Given the description of an element on the screen output the (x, y) to click on. 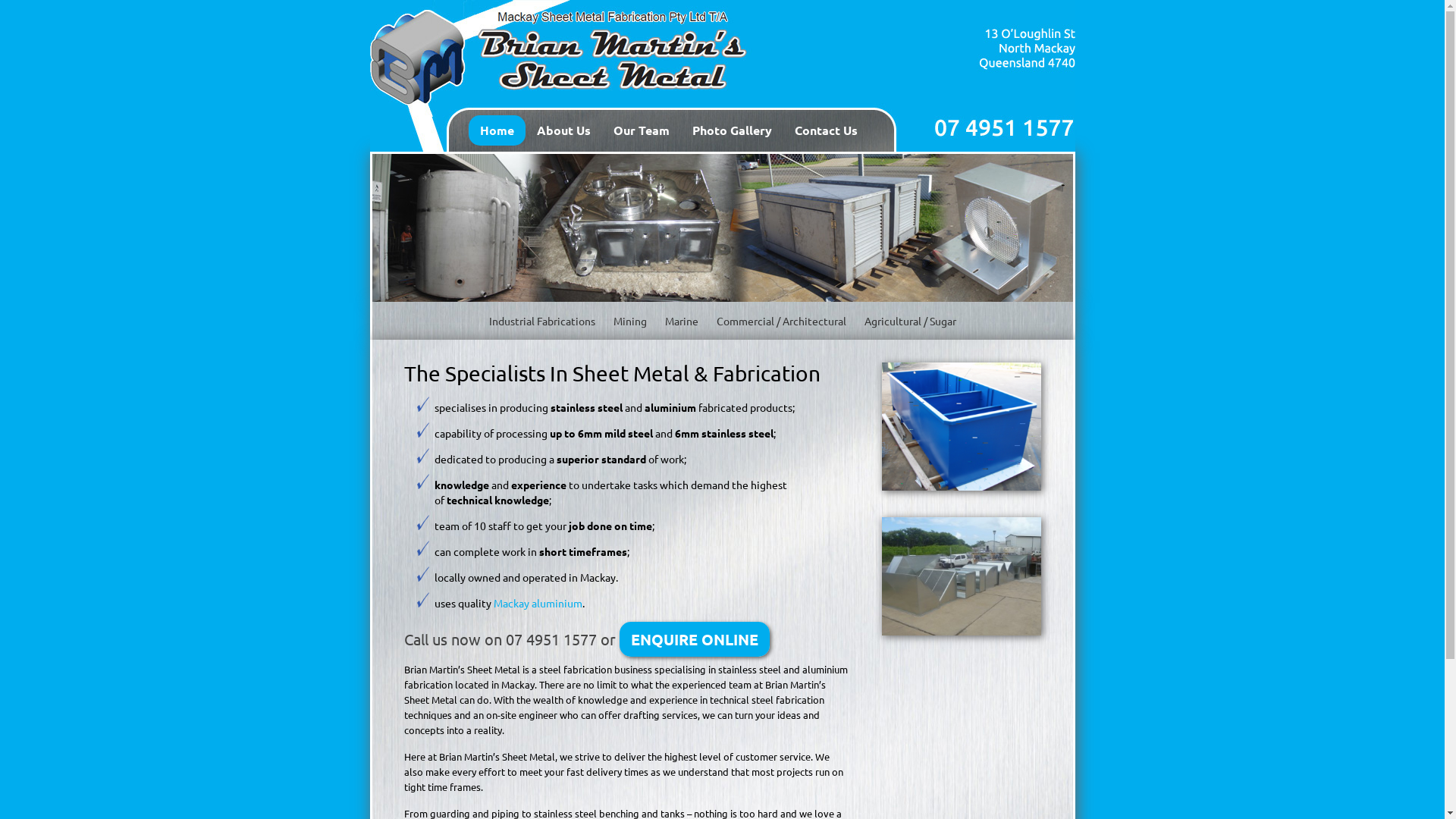
Mackay aluminium Element type: text (536, 602)
image021 Element type: hover (960, 426)
Photo Gallery Element type: text (731, 130)
ENQUIRE ONLINE Element type: text (693, 638)
image015 Element type: hover (960, 576)
Contact Us Element type: text (825, 130)
Home Element type: text (496, 130)
About Us Element type: text (562, 130)
Our Team Element type: text (641, 130)
